Given the description of an element on the screen output the (x, y) to click on. 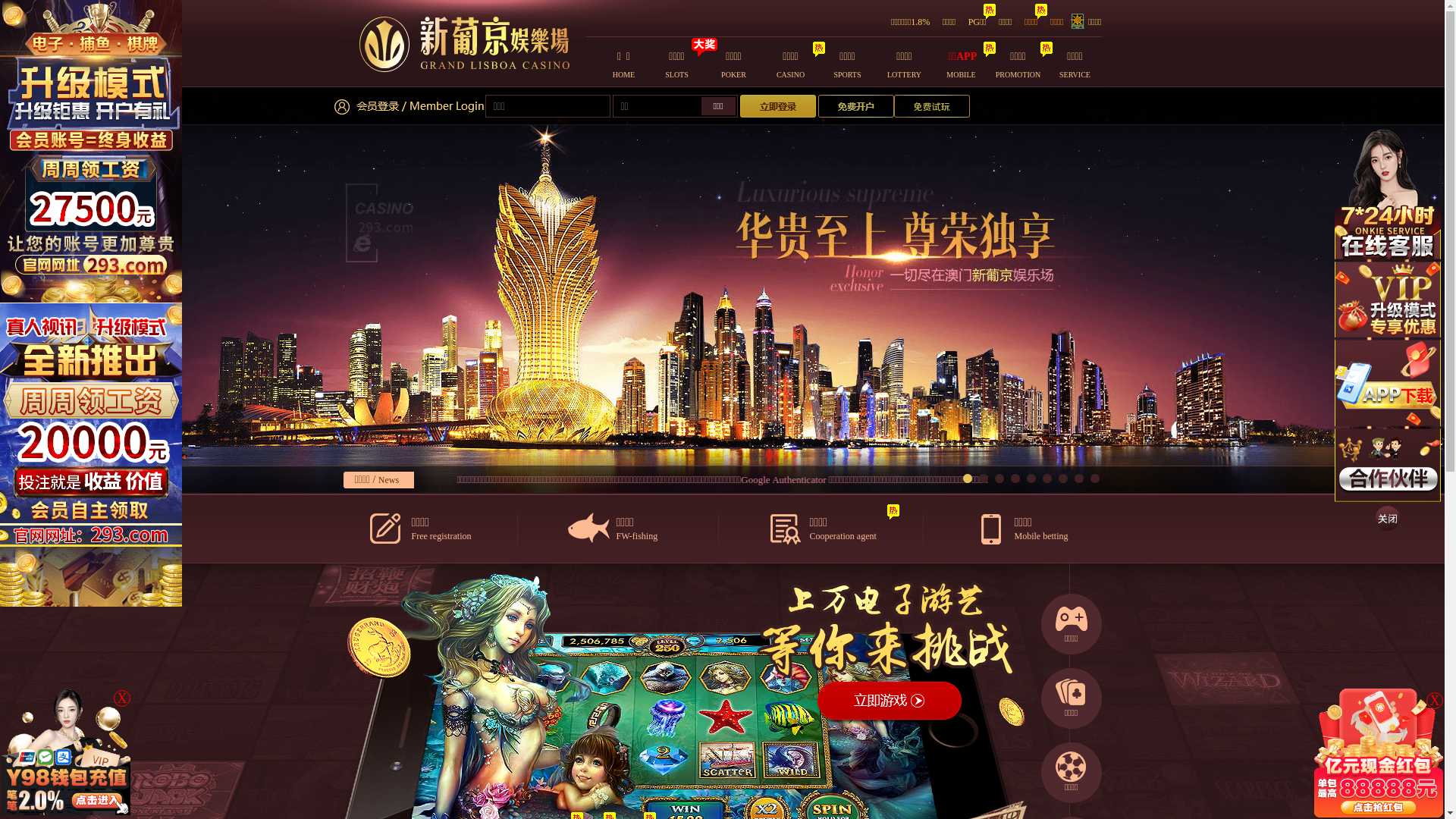
X Element type: text (1434, 700)
X Element type: text (121, 698)
